Given the description of an element on the screen output the (x, y) to click on. 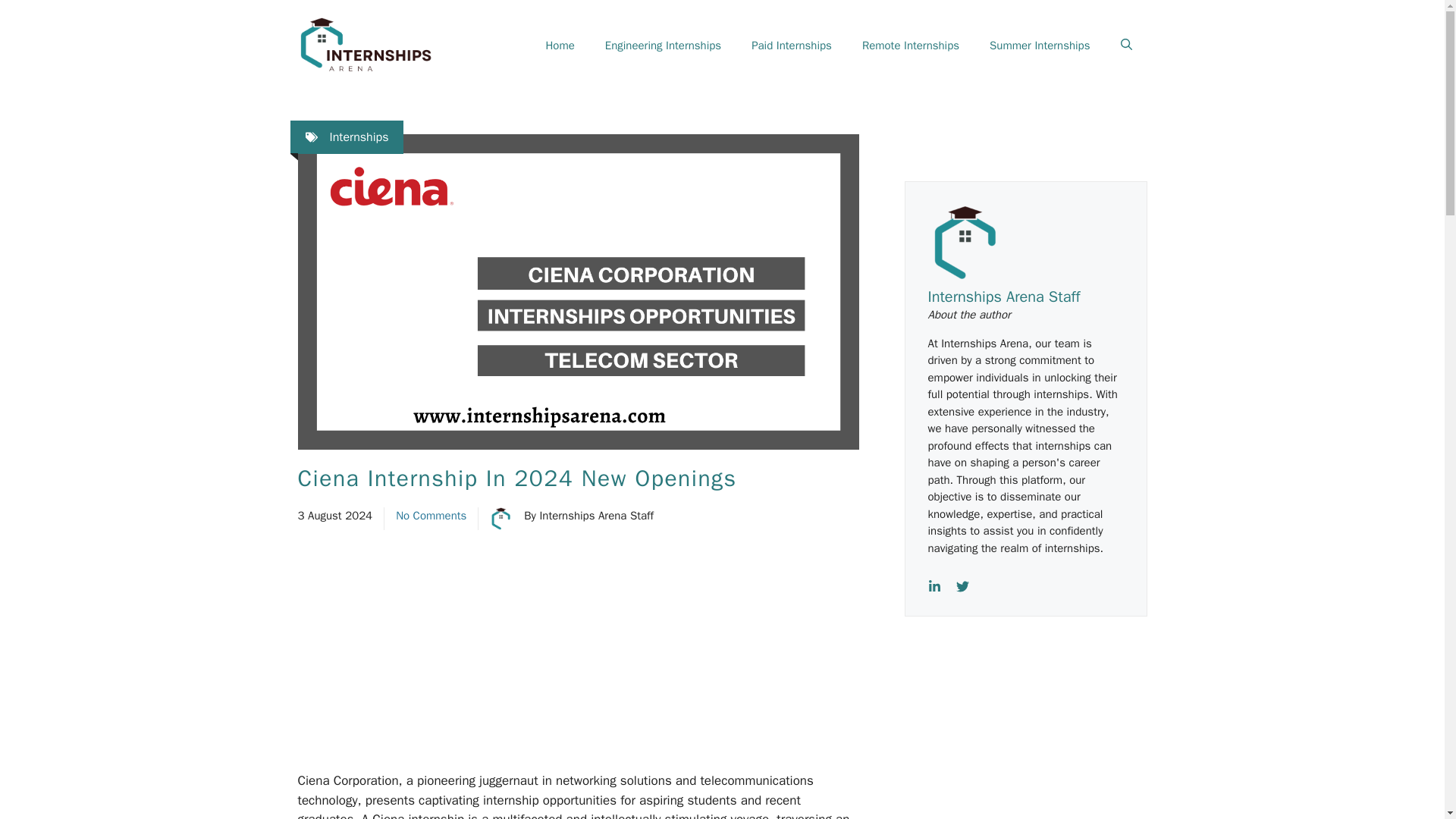
Internships (358, 136)
Advertisement (611, 658)
Engineering Internships (662, 44)
Summer Internships (1039, 44)
Home (559, 44)
Advertisement (1036, 740)
Remote Internships (910, 44)
Paid Internships (791, 44)
No Comments (430, 515)
